Given the description of an element on the screen output the (x, y) to click on. 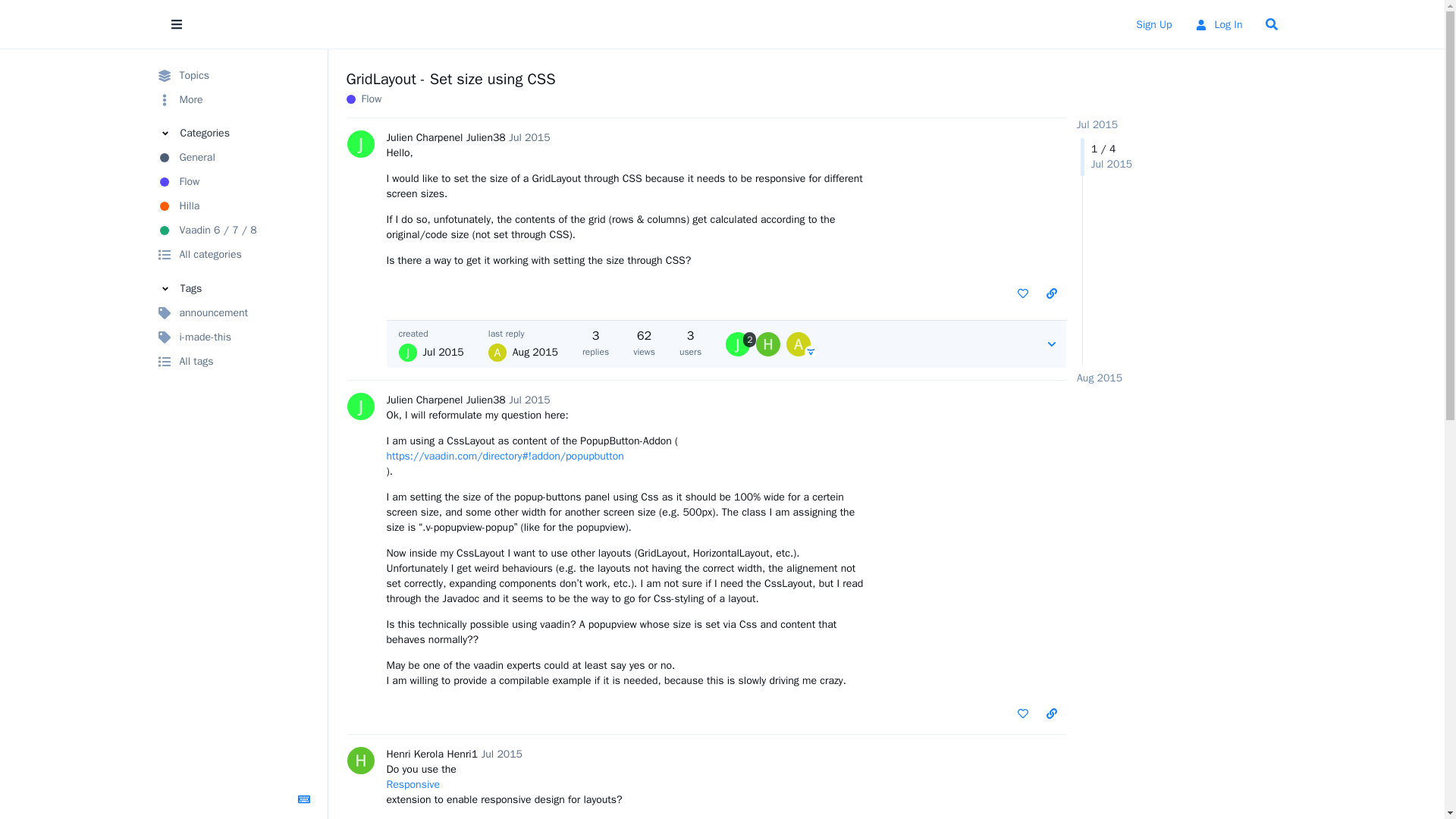
Aug 18, 2015 6:09 pm (1099, 377)
Tags (235, 288)
Search (1270, 24)
Sign Up (1152, 24)
Vaadin Flow is our full-stack framework for Java developers. (235, 181)
Post date (529, 137)
Flow (235, 181)
All tags (235, 360)
Categories (235, 133)
